Given the description of an element on the screen output the (x, y) to click on. 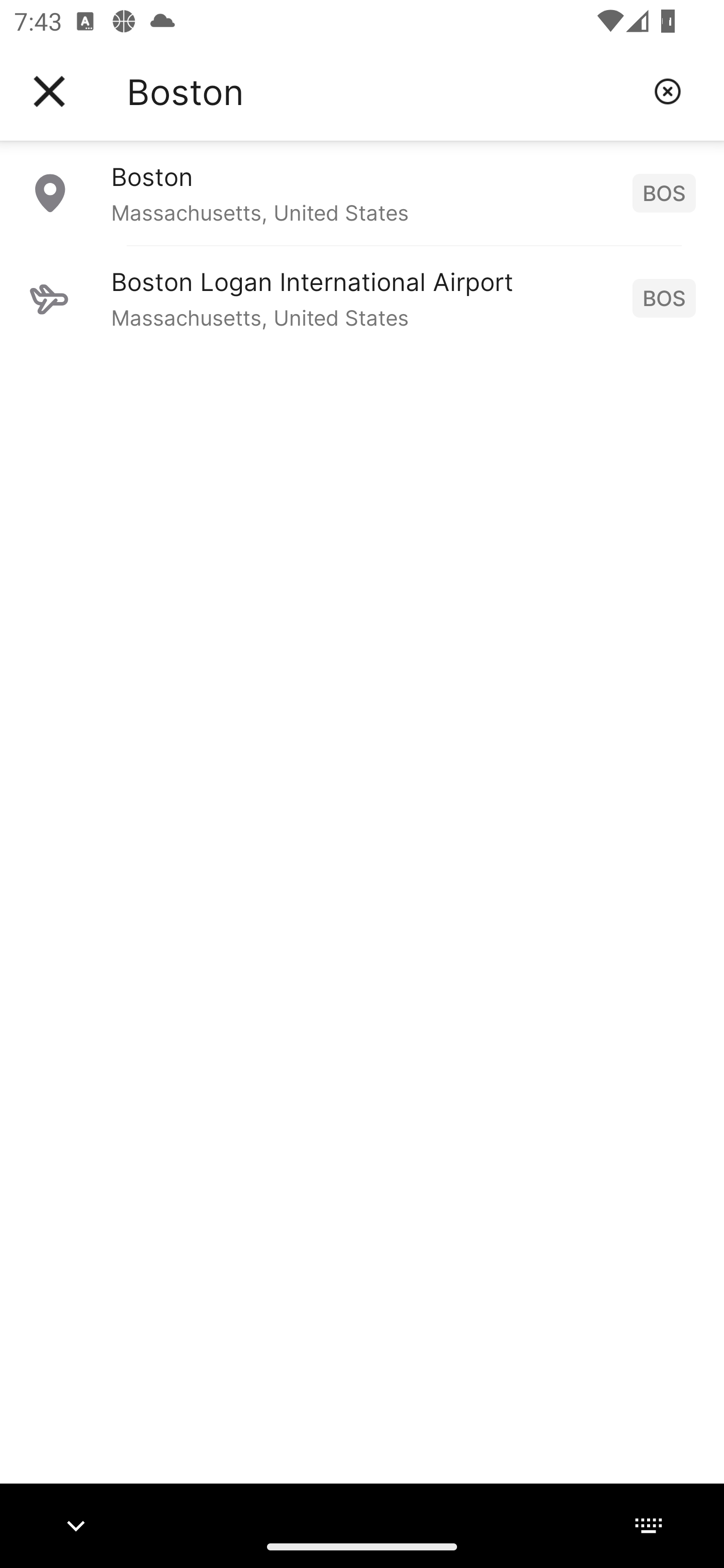
Boston (382, 91)
Boston Massachusetts, United States BOS (362, 192)
